Given the description of an element on the screen output the (x, y) to click on. 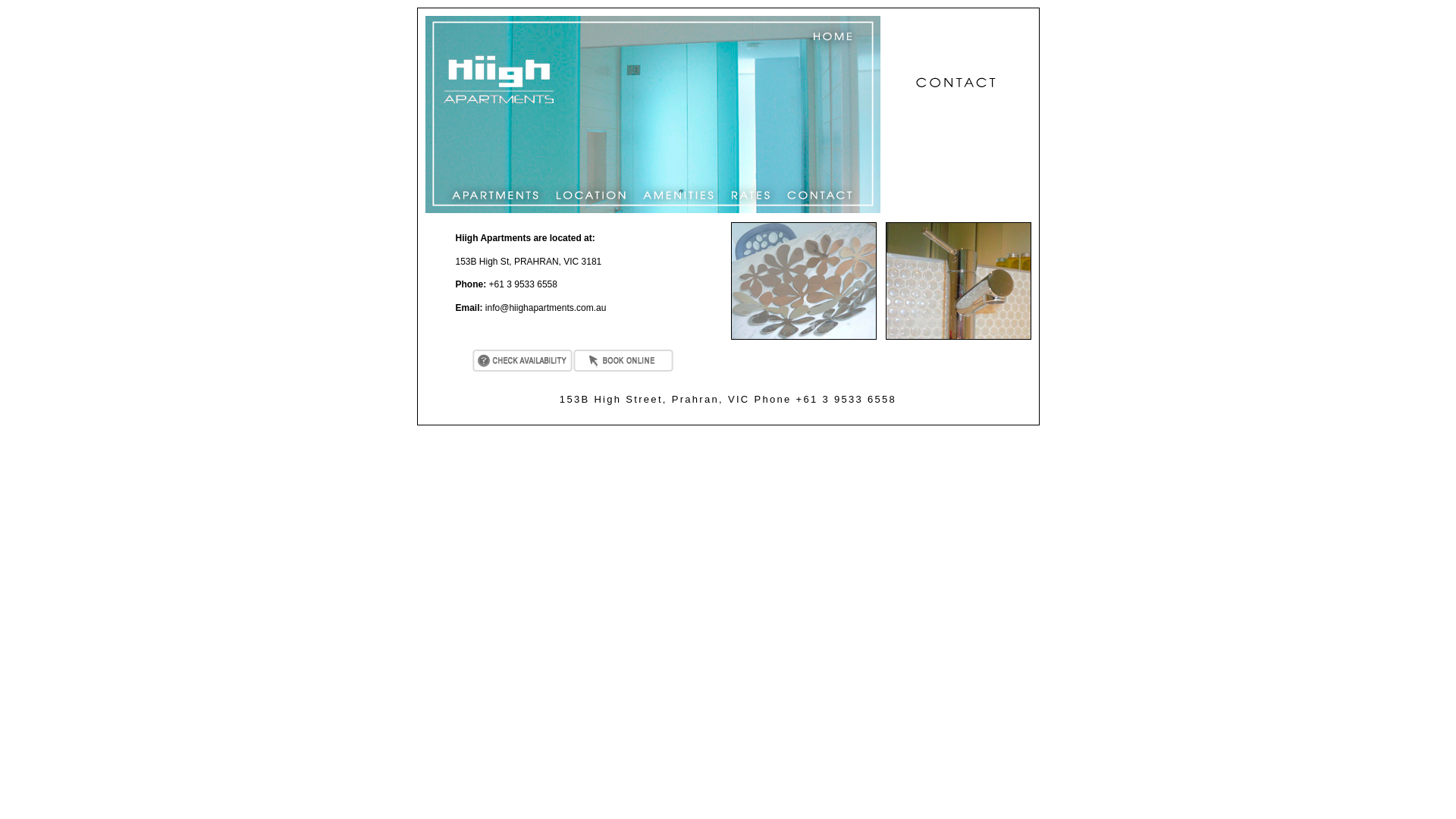
info@hiighapartments.com.au Element type: text (545, 307)
